Given the description of an element on the screen output the (x, y) to click on. 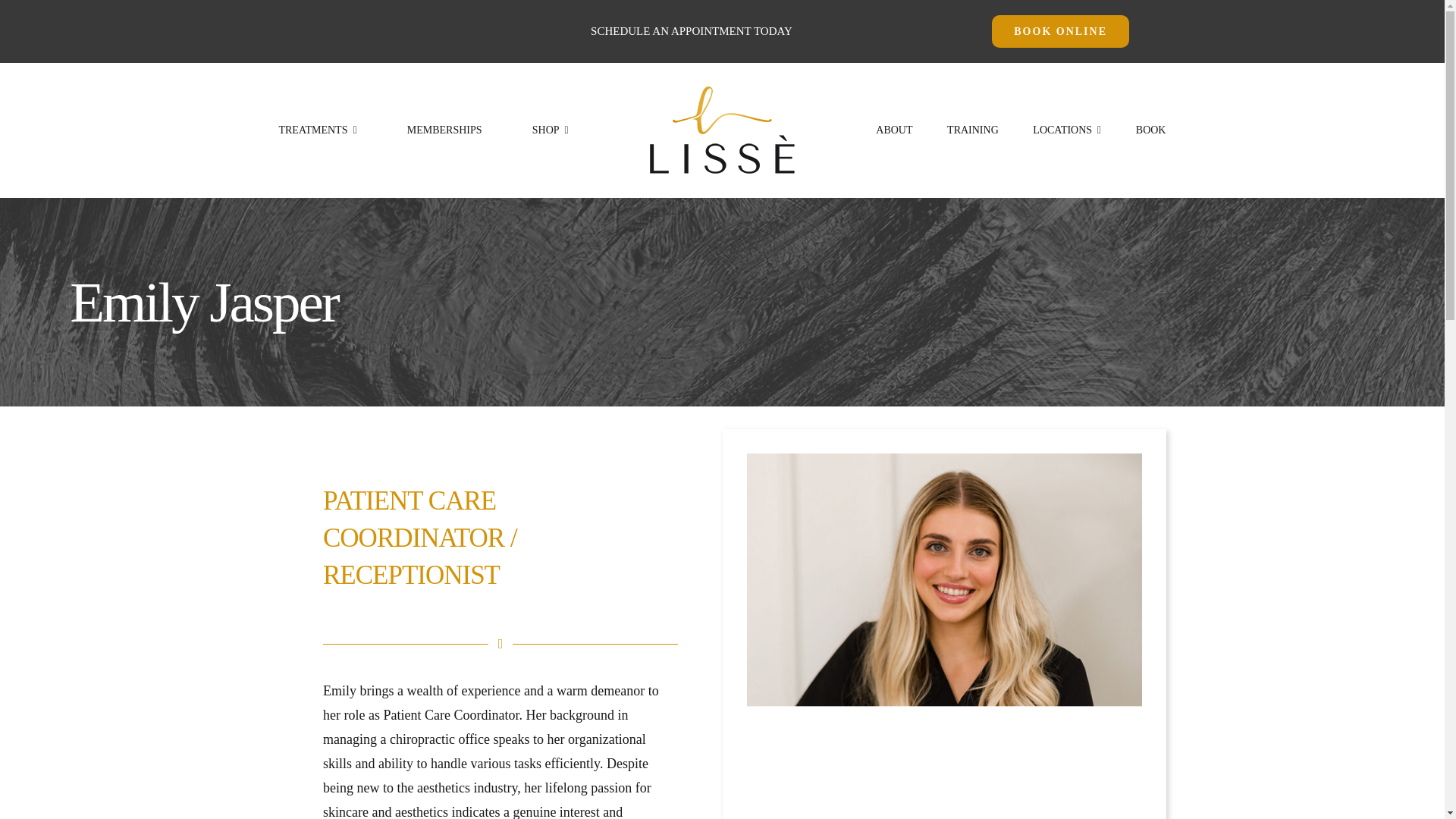
BOOK ONLINE (1060, 31)
SHOP (550, 129)
MEMBERSHIPS (444, 129)
TREATMENTS (317, 129)
